Given the description of an element on the screen output the (x, y) to click on. 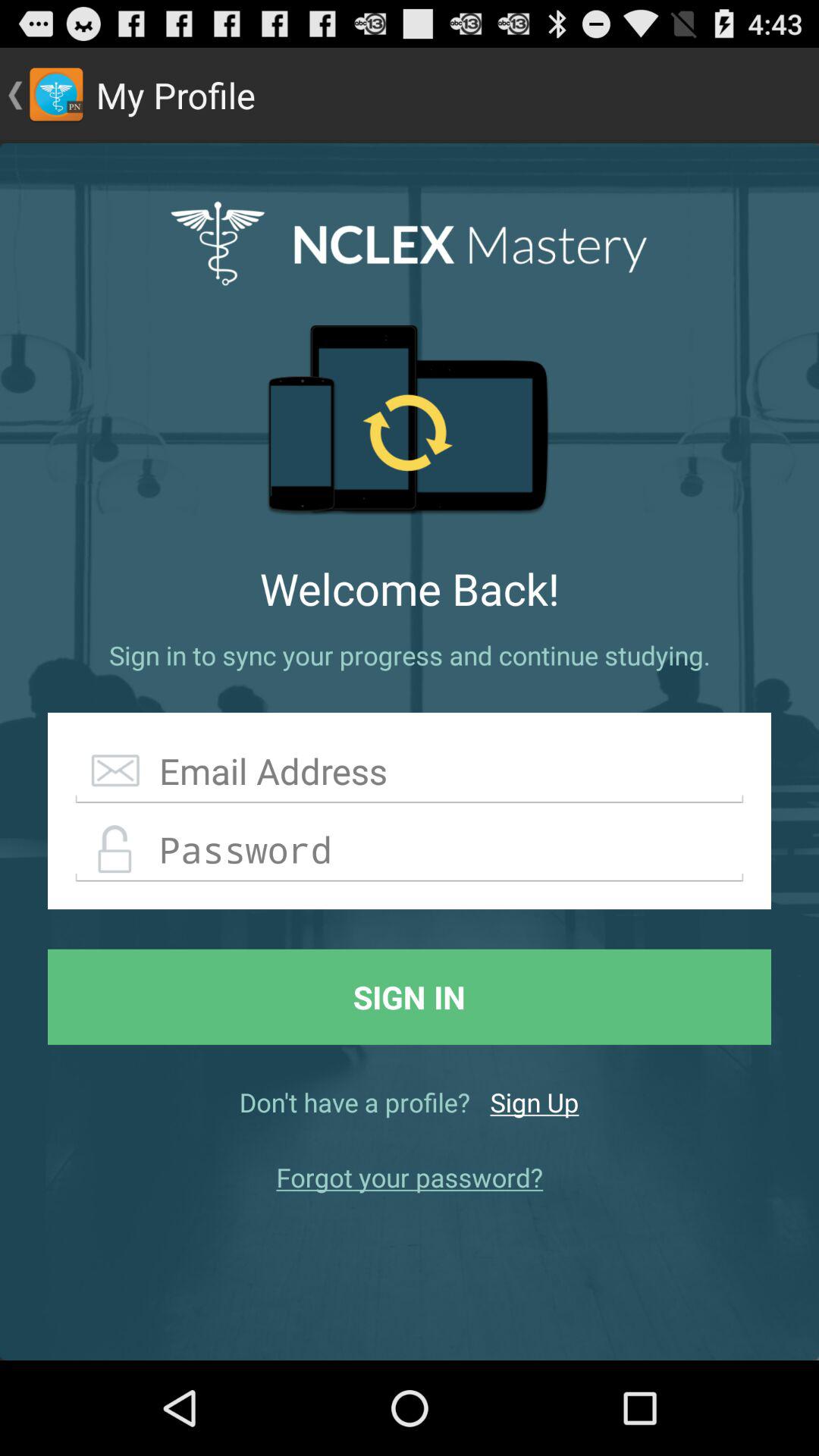
select the app to the right of the don t have (534, 1101)
